Given the description of an element on the screen output the (x, y) to click on. 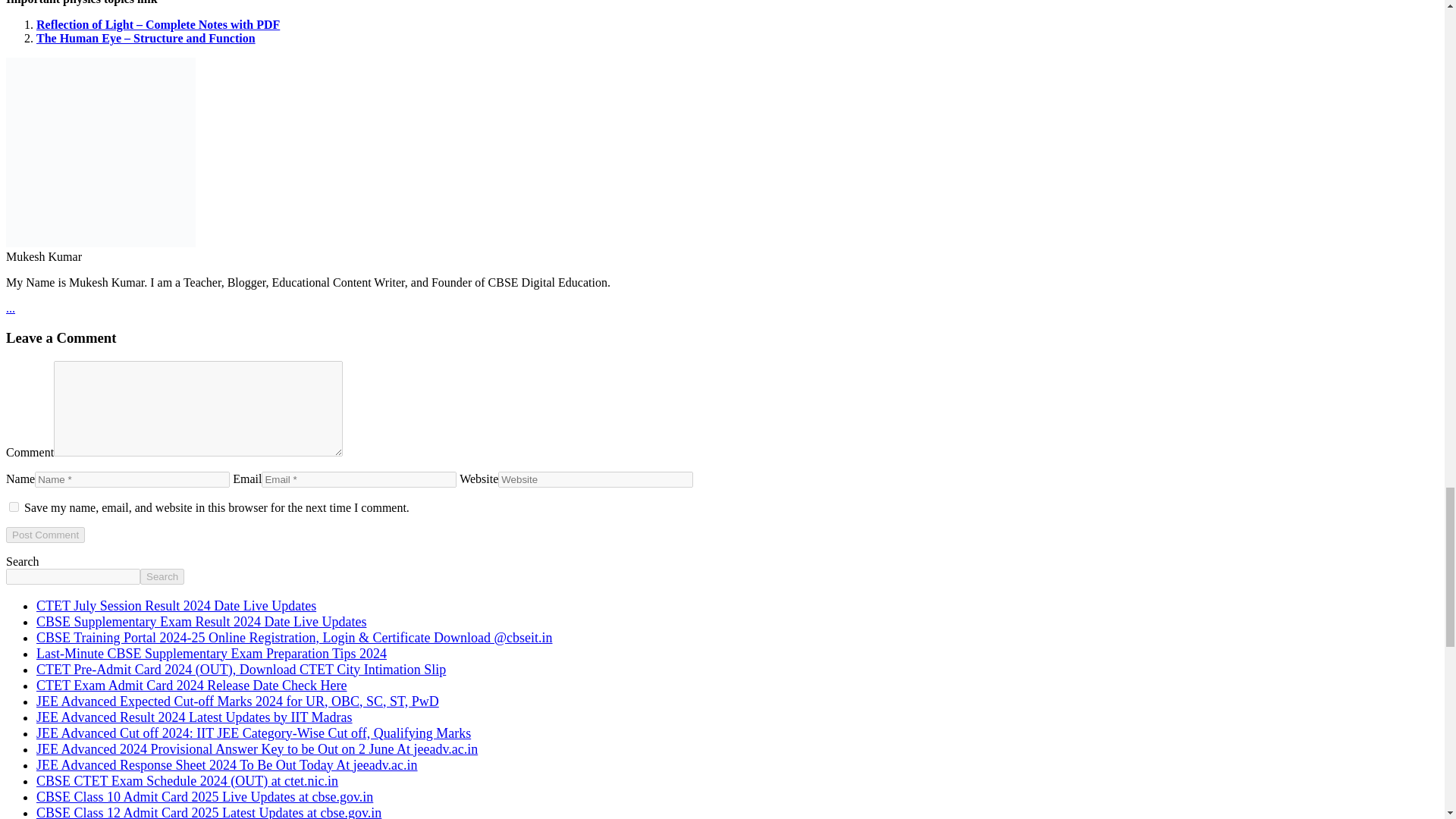
Post Comment (44, 534)
yes (13, 506)
Read more about this author (9, 308)
